Given the description of an element on the screen output the (x, y) to click on. 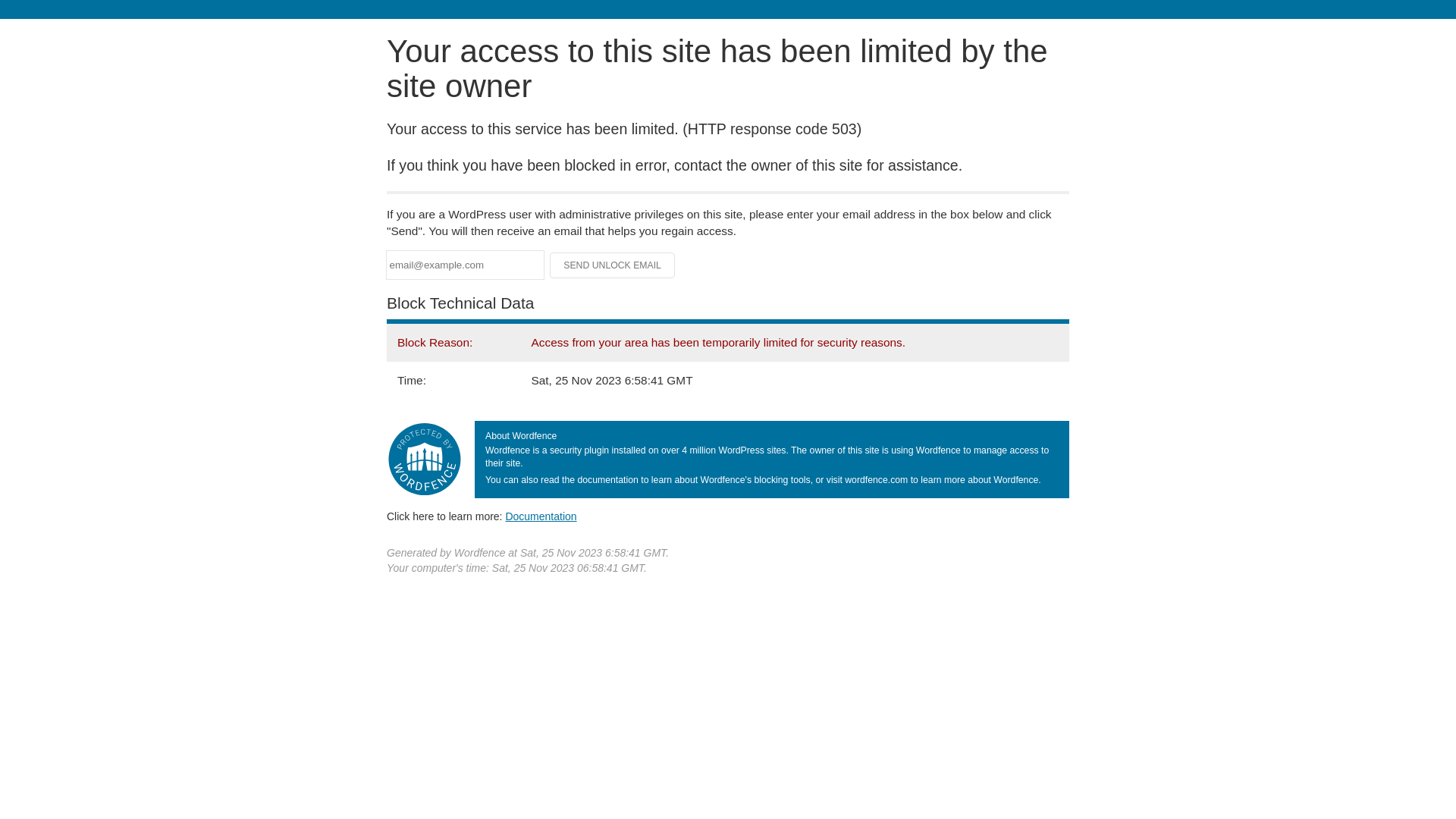
Send Unlock Email Element type: text (612, 265)
Documentation Element type: text (540, 516)
